Given the description of an element on the screen output the (x, y) to click on. 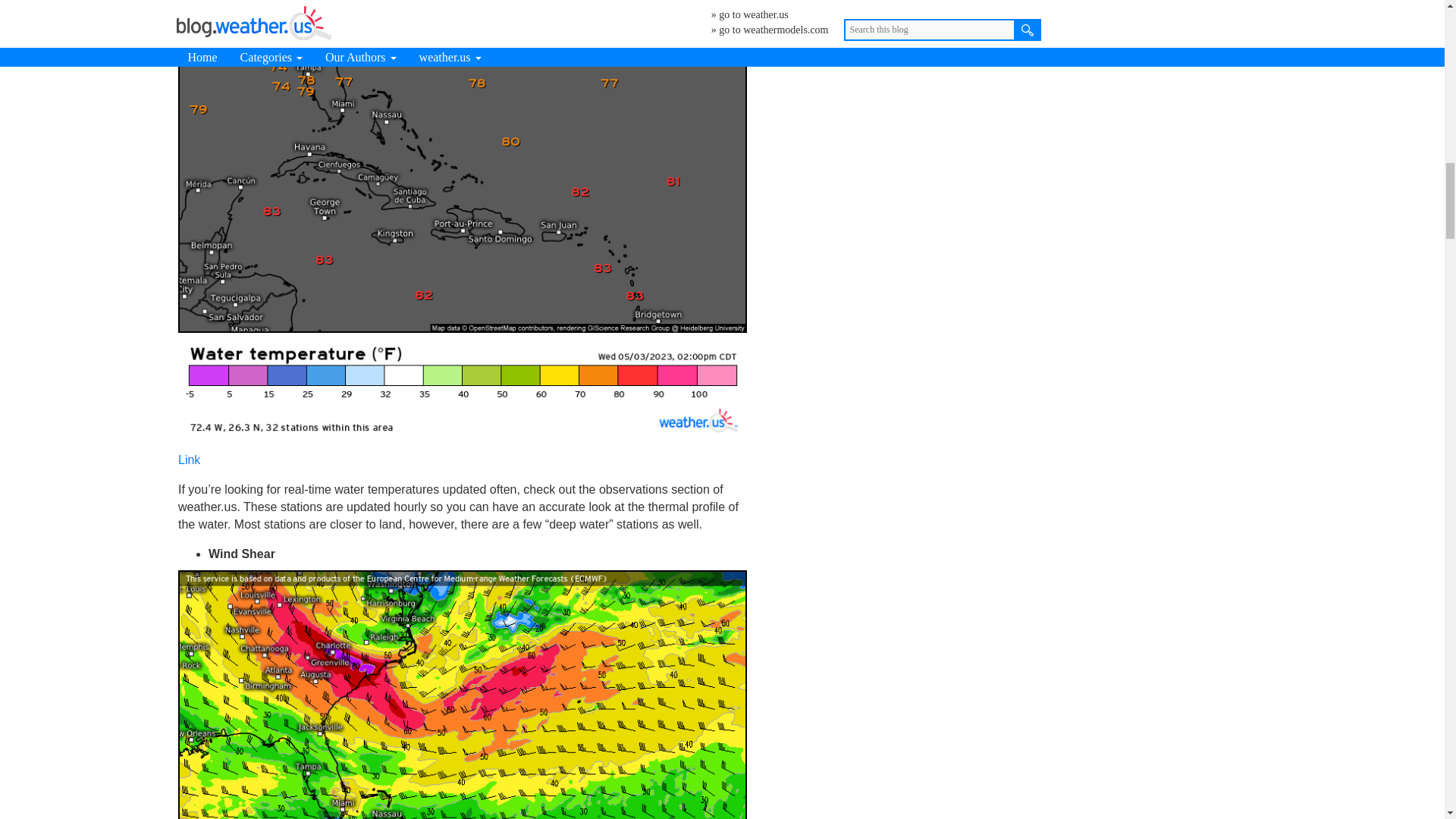
Link (188, 459)
